Given the description of an element on the screen output the (x, y) to click on. 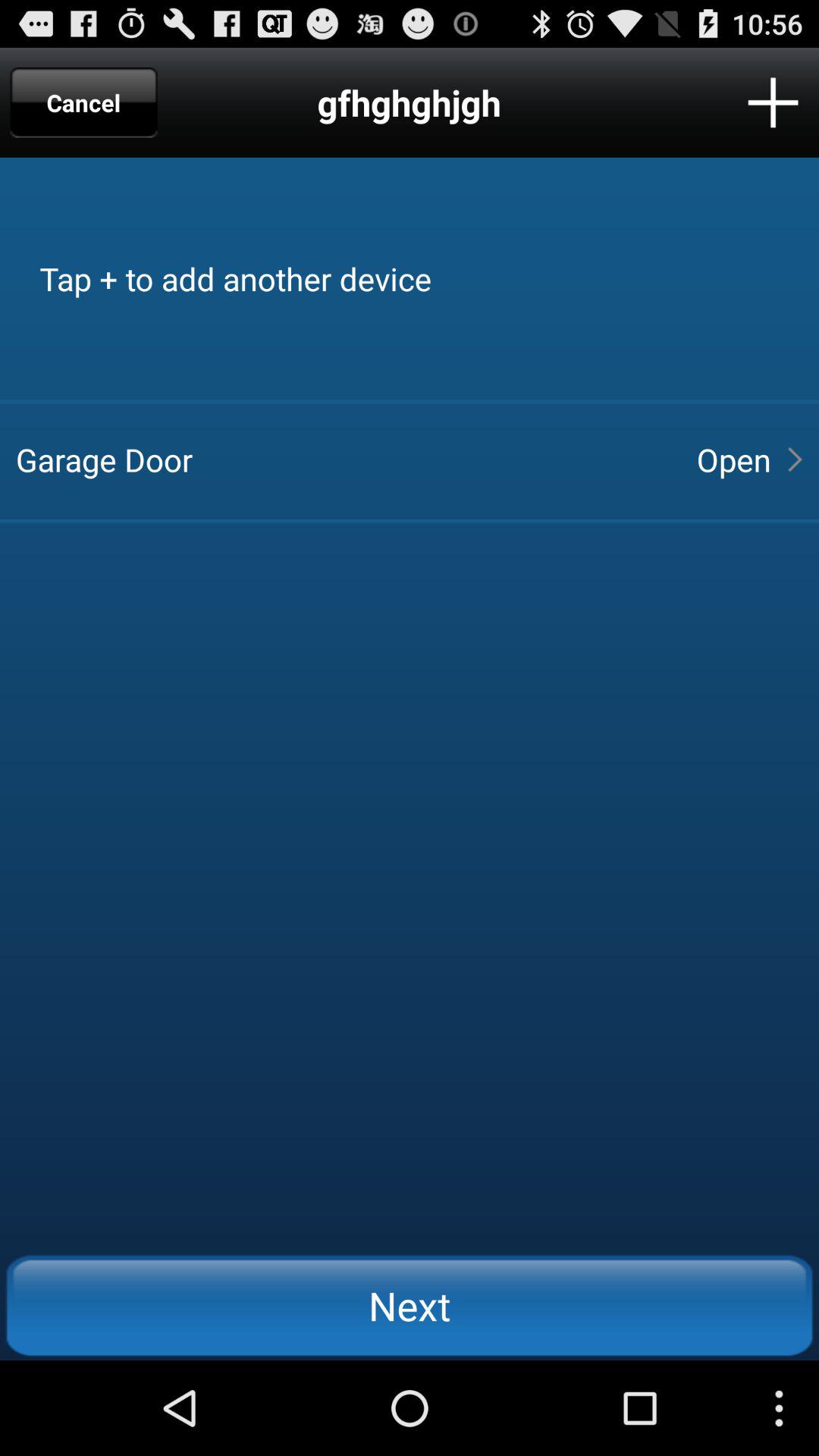
turn off open item (733, 459)
